Given the description of an element on the screen output the (x, y) to click on. 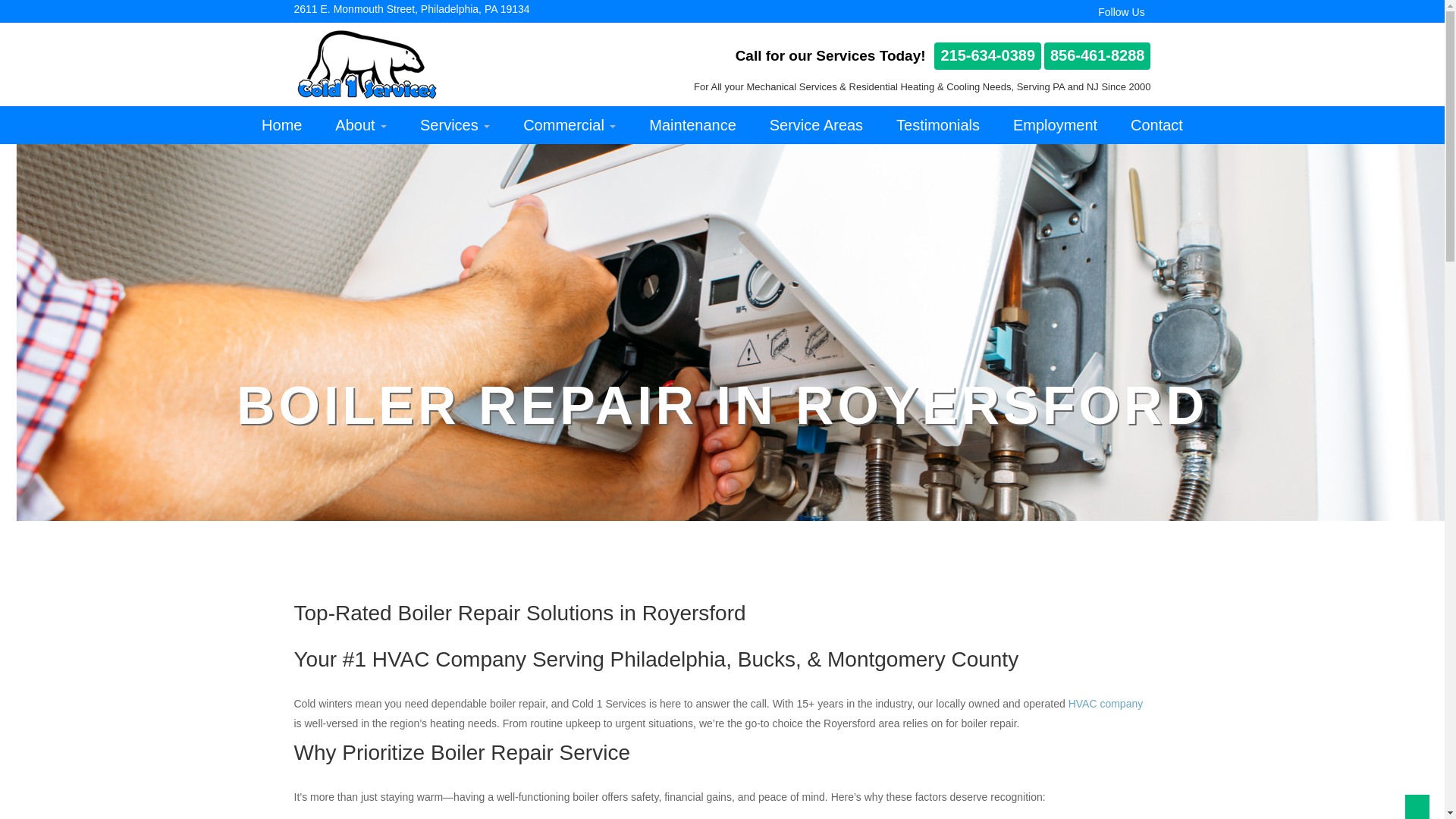
Maintenance (692, 125)
Royersford (849, 723)
Commercial (569, 125)
Contact (1156, 125)
Maintenance (692, 125)
856-461-8288 (1097, 55)
HVAC company (1105, 703)
Employment (1054, 125)
Services (454, 125)
Service Areas (815, 125)
